Given the description of an element on the screen output the (x, y) to click on. 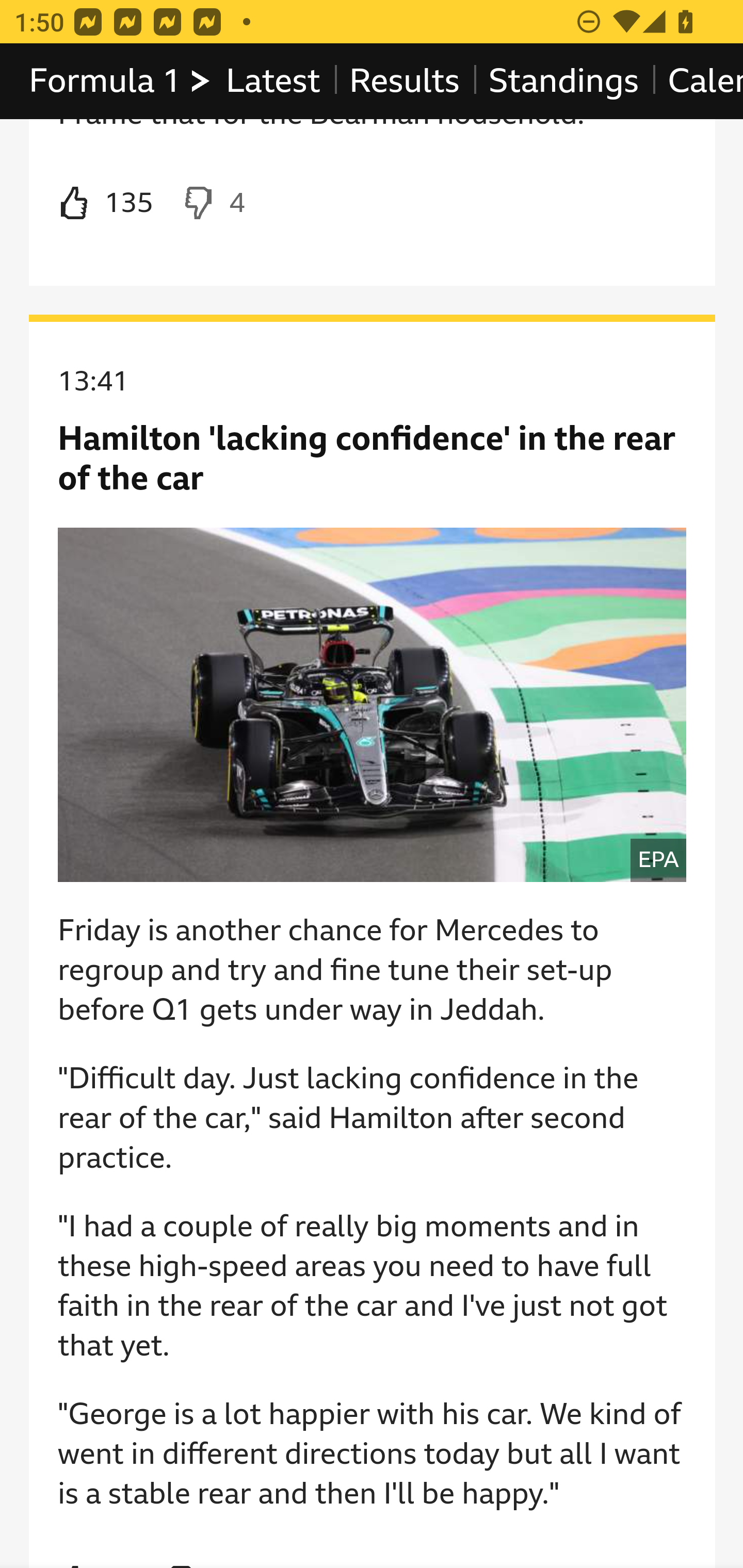
Like (105, 205)
Dislike (212, 205)
